Given the description of an element on the screen output the (x, y) to click on. 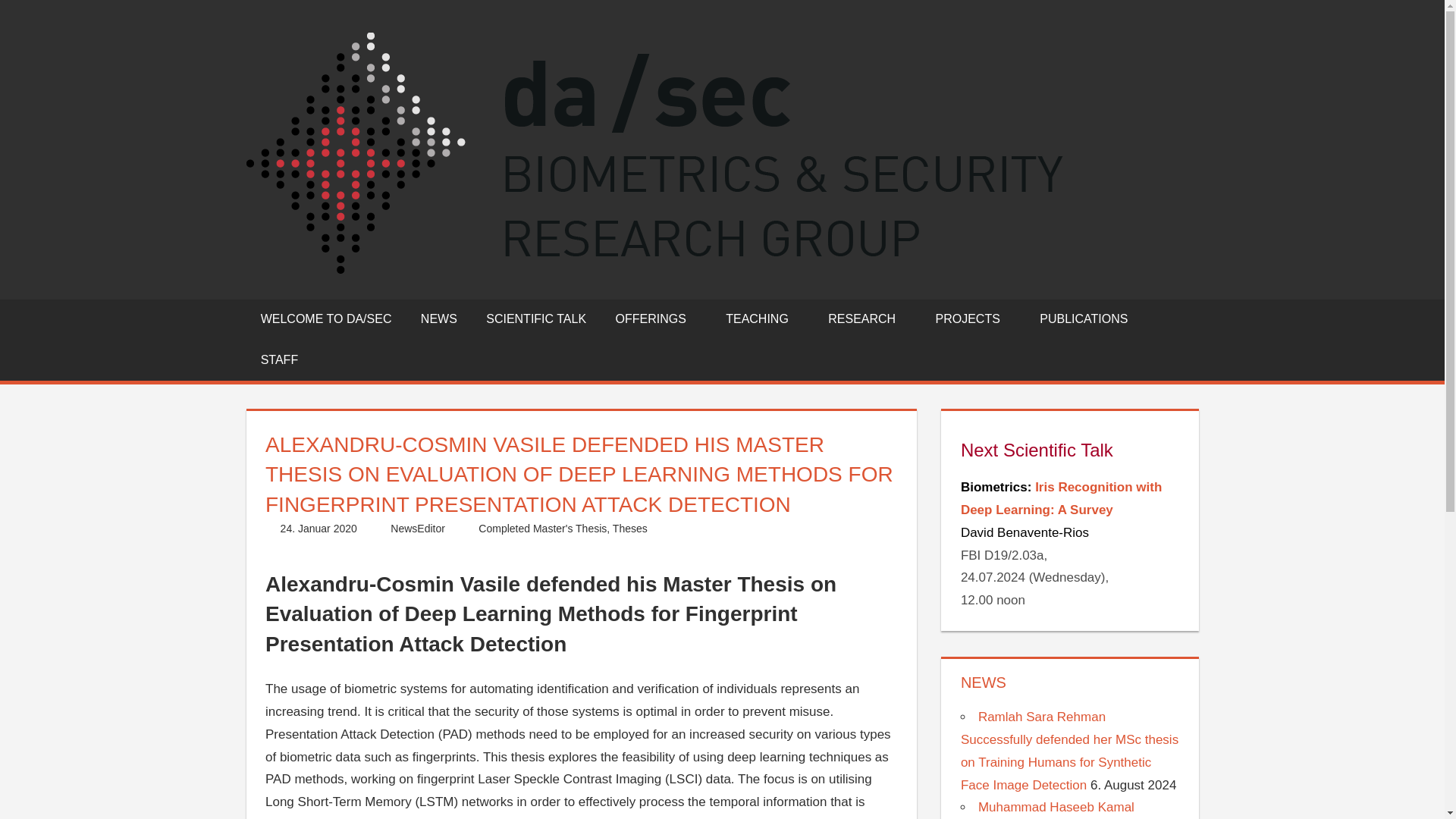
24. Januar 2020 (318, 528)
NEWS (438, 318)
TEACHING (762, 318)
PROJECTS (972, 318)
SCIENTIFIC TALK (535, 318)
RESEARCH (866, 318)
STAFF (279, 359)
Iris Recognition with Deep Learning: A Survey (1060, 497)
PUBLICATIONS (1083, 318)
